Given the description of an element on the screen output the (x, y) to click on. 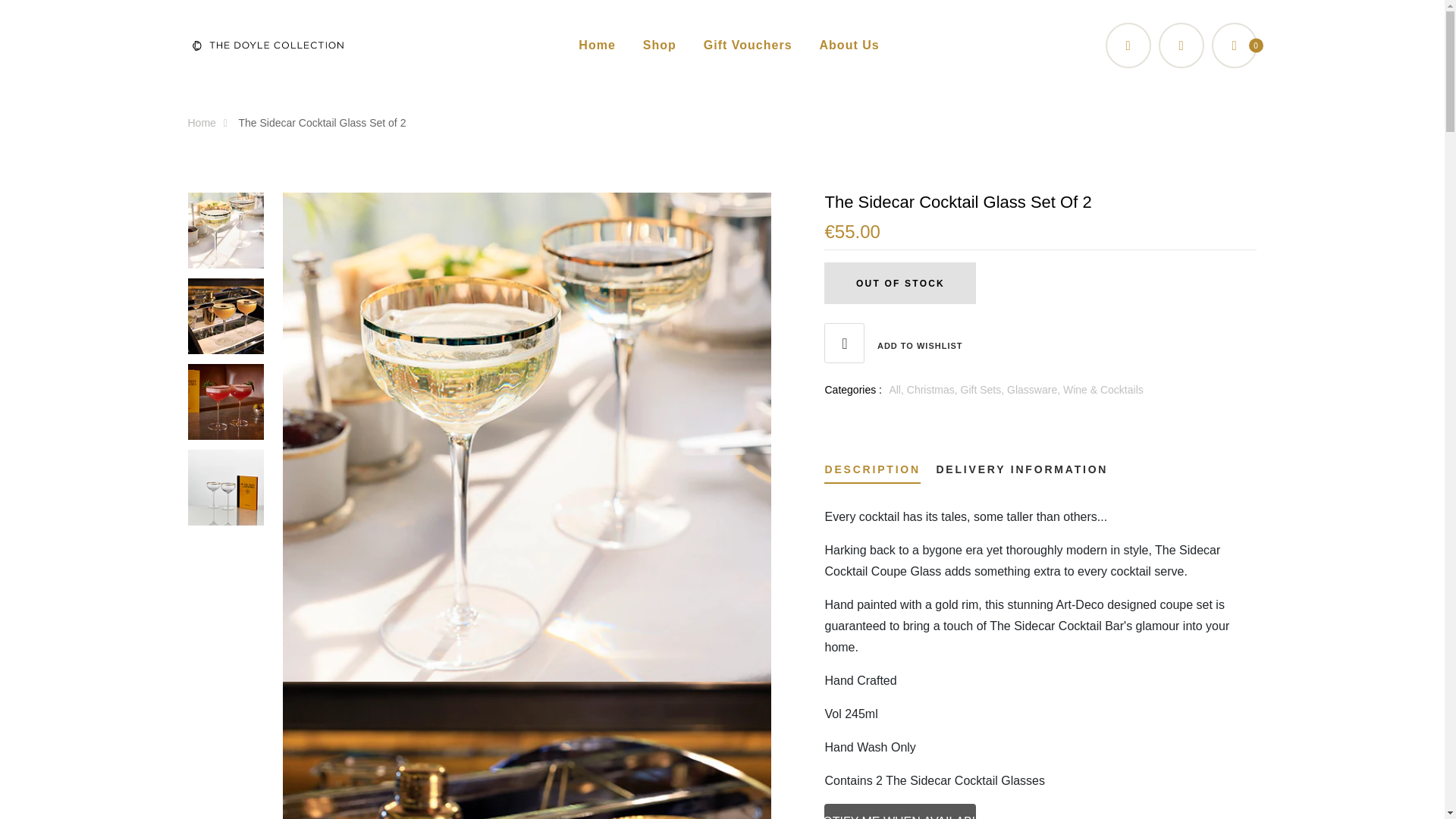
0 (1234, 44)
OUT OF STOCK (899, 282)
Shop (660, 45)
Log In (722, 458)
About Us (849, 45)
Gift Vouchers (747, 45)
Home (596, 45)
Gift Vouchers (747, 45)
register (722, 761)
Shop (660, 45)
Home (210, 122)
Back to the frontpage (210, 122)
About Us (849, 45)
Home (596, 45)
